Given the description of an element on the screen output the (x, y) to click on. 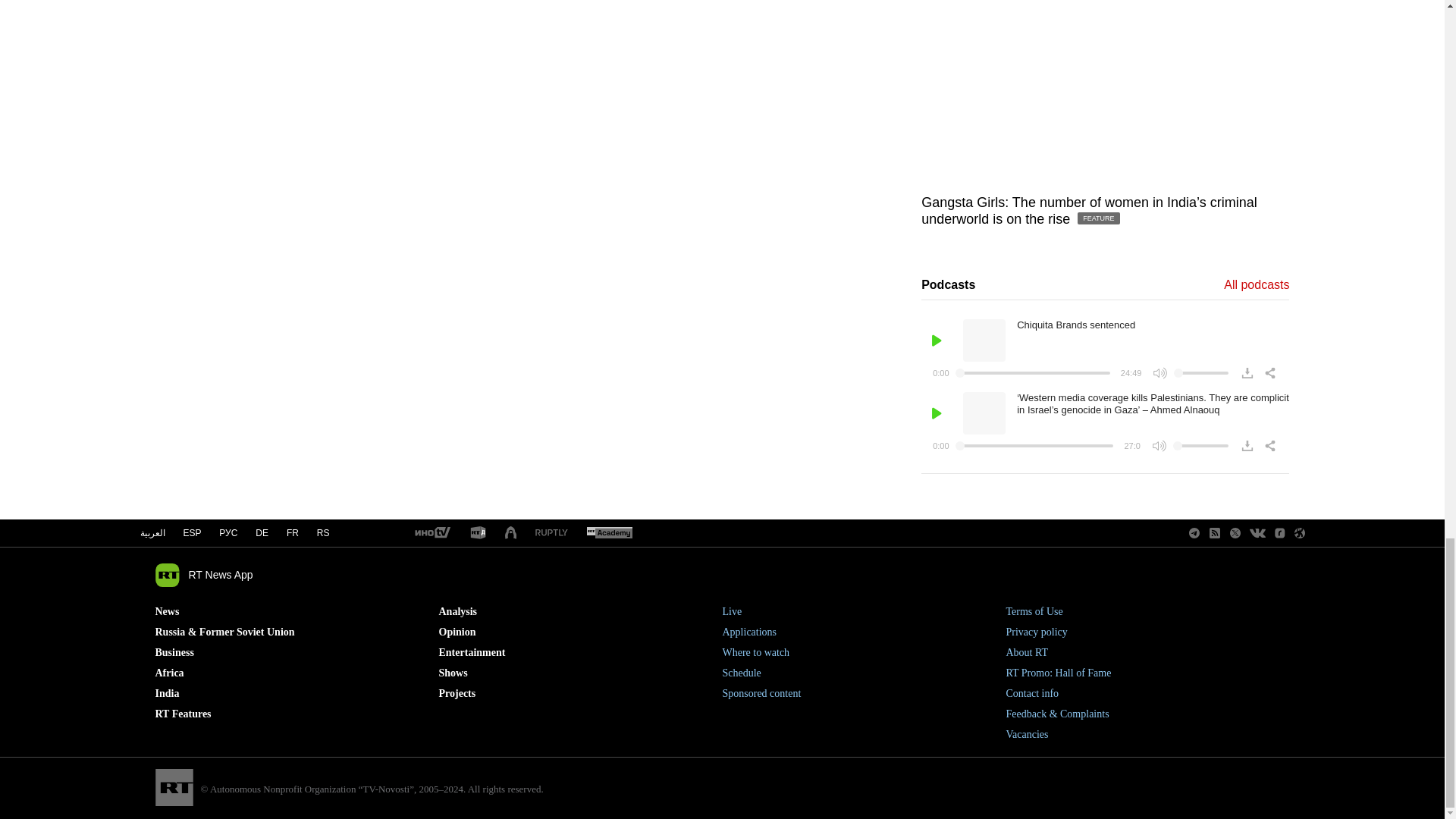
RT  (551, 533)
RT  (608, 533)
RT  (478, 533)
RT  (510, 533)
RT  (431, 533)
